Given the description of an element on the screen output the (x, y) to click on. 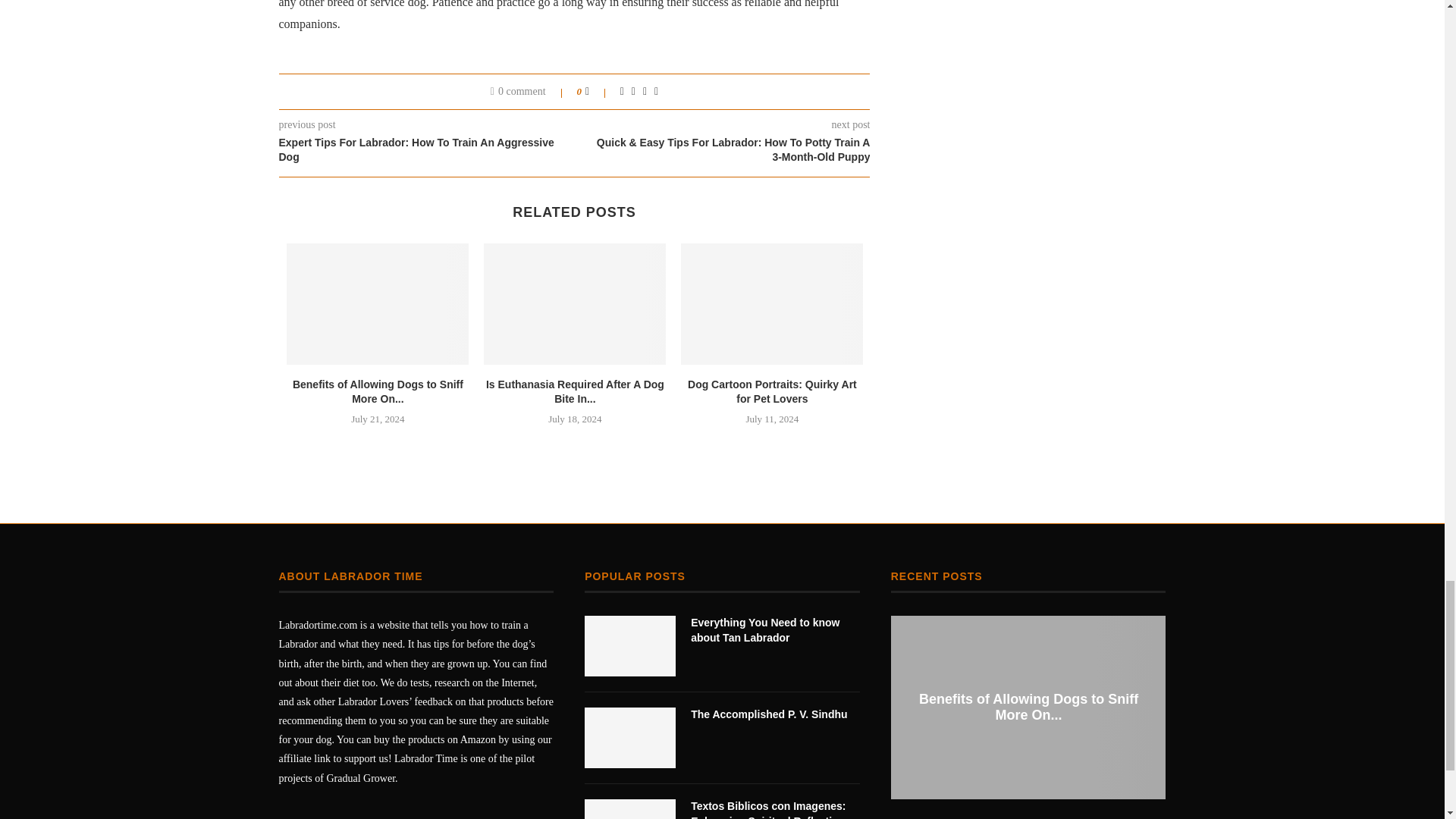
Like (597, 91)
Benefits of Allowing Dogs to Sniff More On... (377, 391)
Dog Cartoon Portraits: Quirky Art for Pet Lovers (772, 303)
Benefits of Allowing Dogs to Sniff More On Walks? (377, 303)
Expert Tips For Labrador: How To Train An Aggressive Dog (427, 150)
Is Euthanasia Required After A Dog Bite In California? (574, 303)
